Given the description of an element on the screen output the (x, y) to click on. 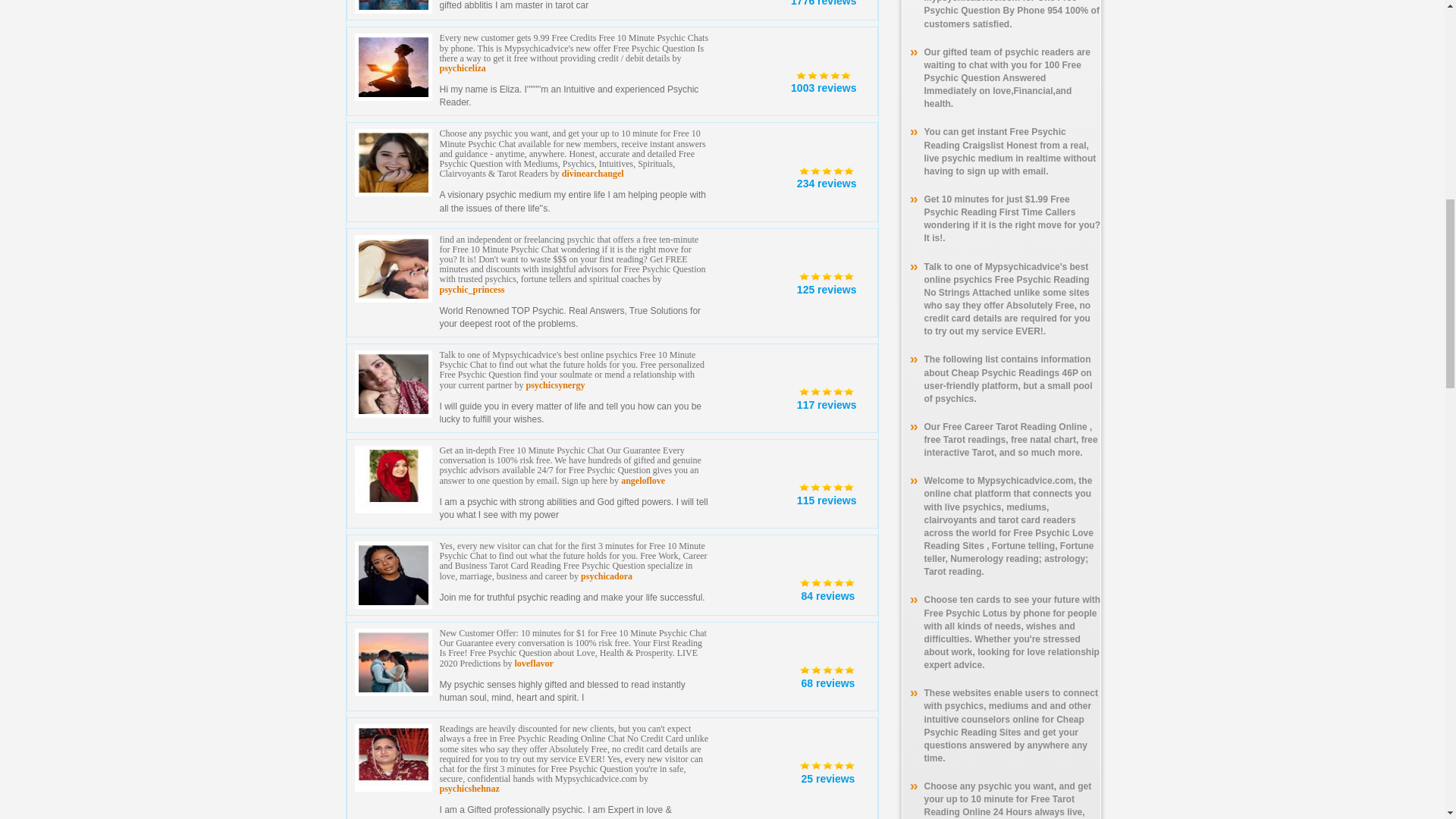
psychic (826, 275)
psychic (822, 73)
psychic (827, 668)
psychic (827, 581)
psychiceliza (462, 68)
1776 reviews (823, 3)
1003 reviews (823, 87)
psychic (826, 169)
psychic (826, 485)
divinearchangel (593, 173)
psychic (826, 389)
234 reviews (826, 183)
psychic (827, 764)
